Given the description of an element on the screen output the (x, y) to click on. 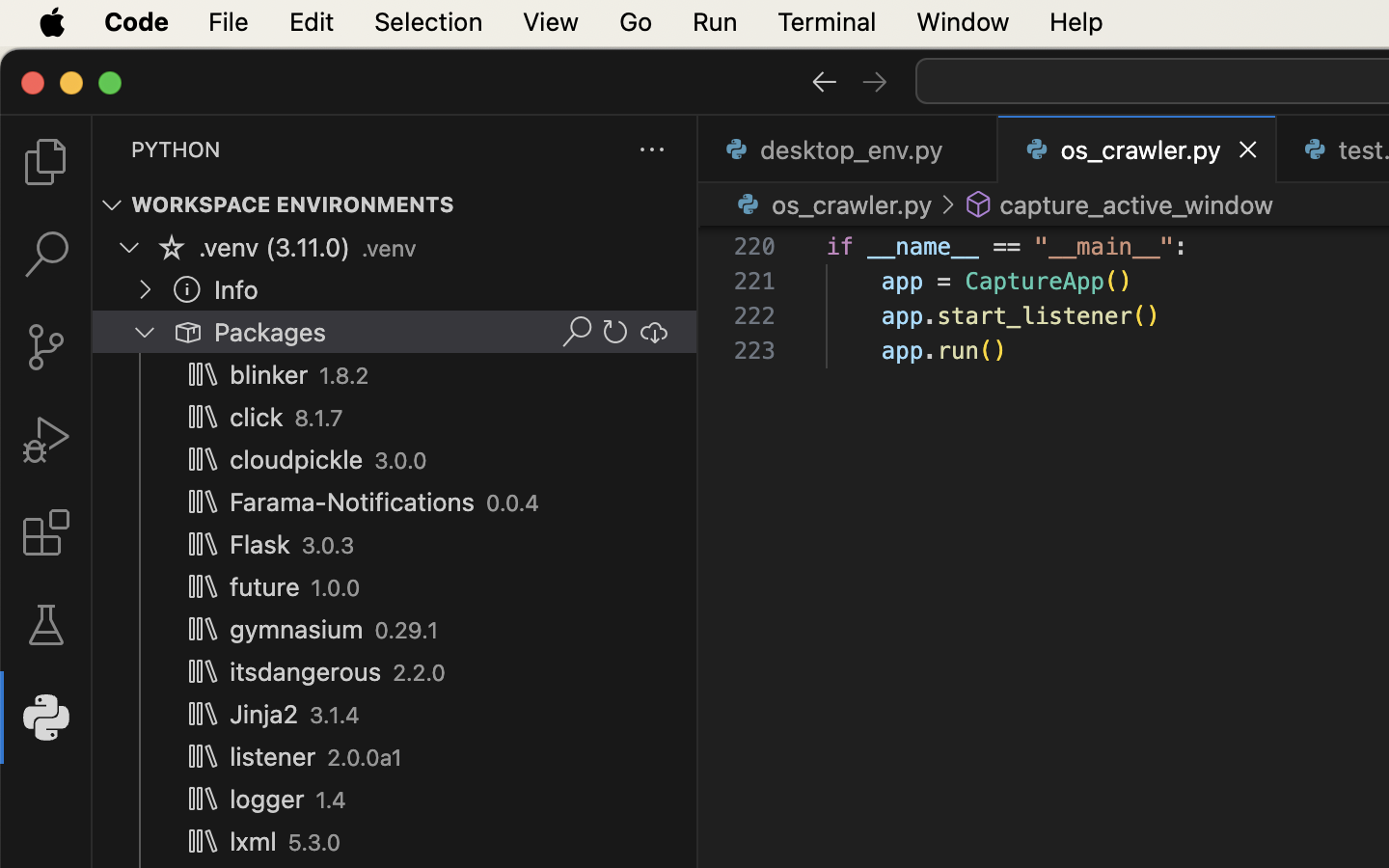
cloudpickle Element type: AXStaticText (296, 459)
click Element type: AXStaticText (256, 417)
 Element type: AXStaticText (978, 204)
os_crawler.py  Element type: AXGroup (831, 204)
 Element type: AXButton (653, 331)
